Given the description of an element on the screen output the (x, y) to click on. 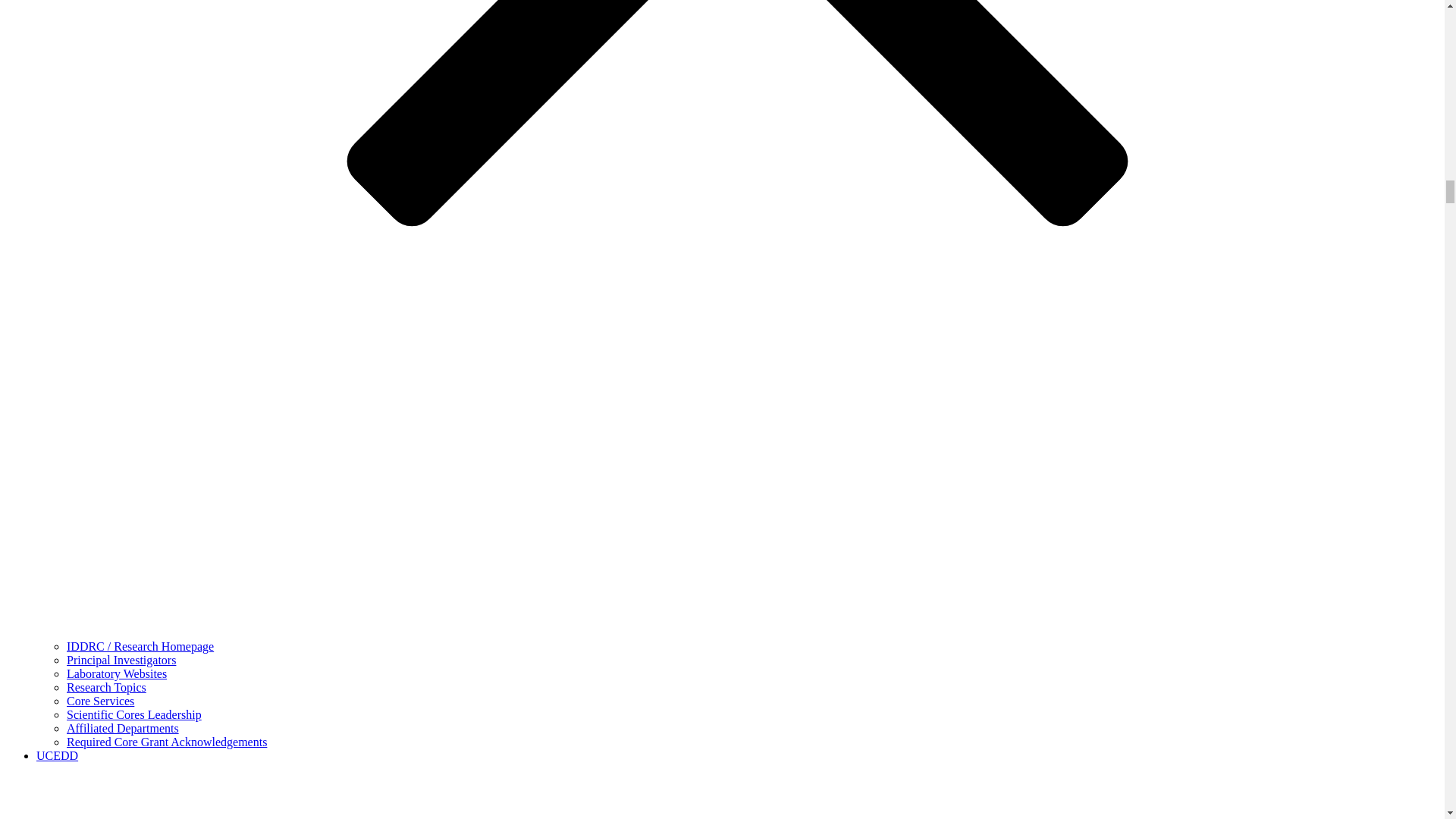
Affiliated Departments (122, 727)
Scientific Cores Leadership (134, 714)
Laboratory Websites (116, 673)
Required Core Grant Acknowledgements (166, 741)
Research Topics (106, 686)
Principal Investigators (121, 659)
Core Services (99, 700)
